Given the description of an element on the screen output the (x, y) to click on. 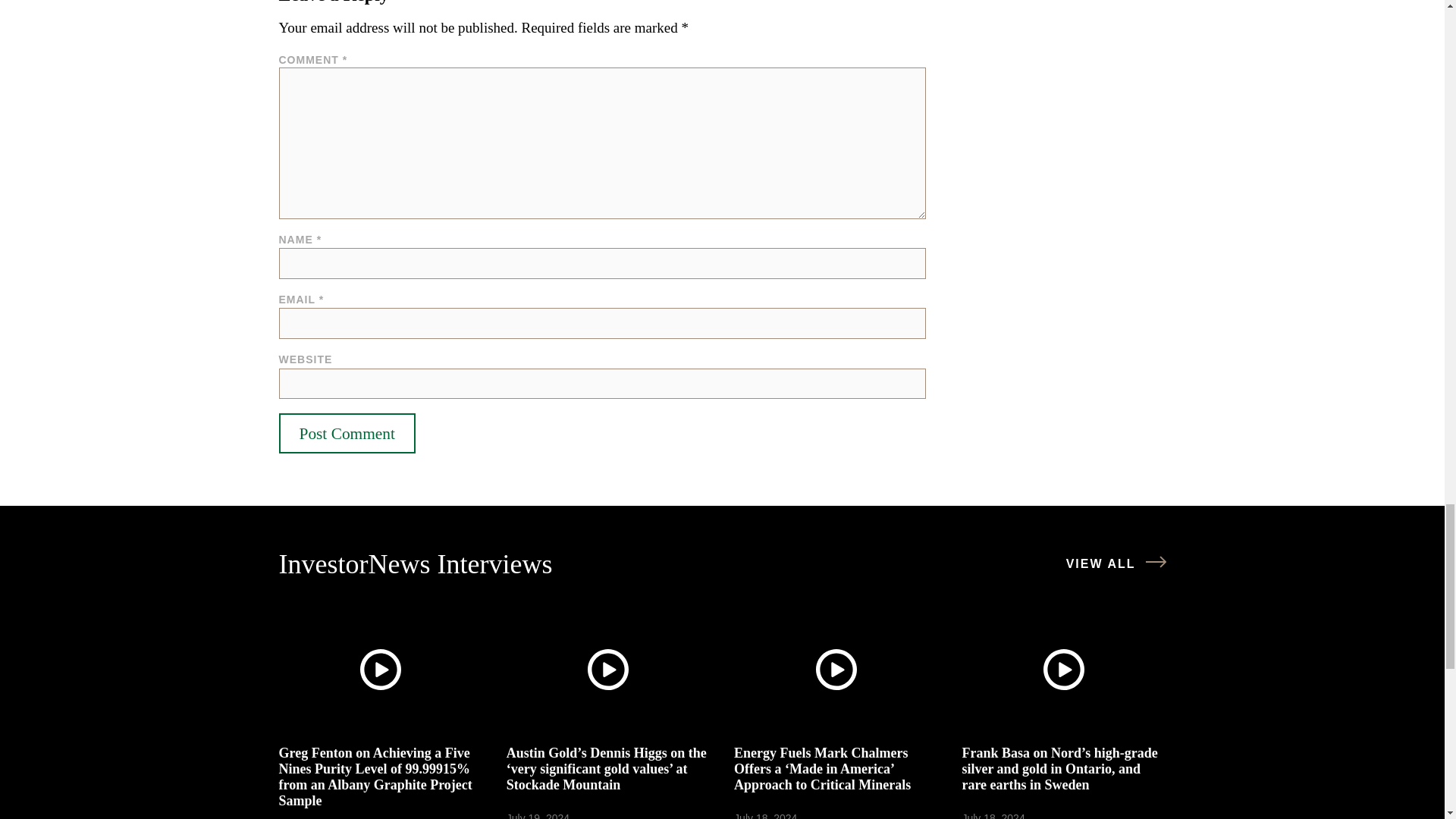
Post Comment (346, 432)
